Given the description of an element on the screen output the (x, y) to click on. 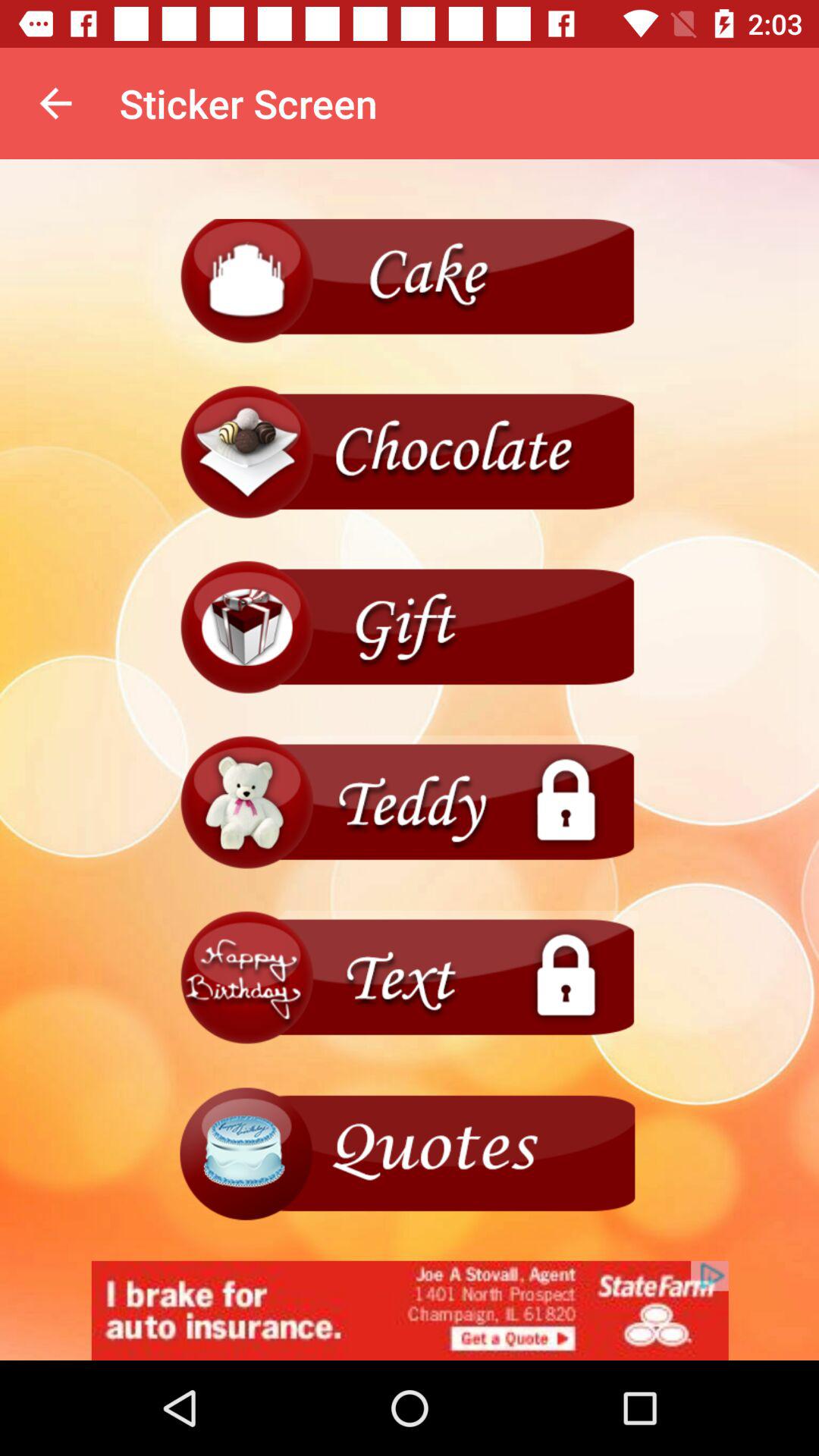
text box menu (409, 977)
